Given the description of an element on the screen output the (x, y) to click on. 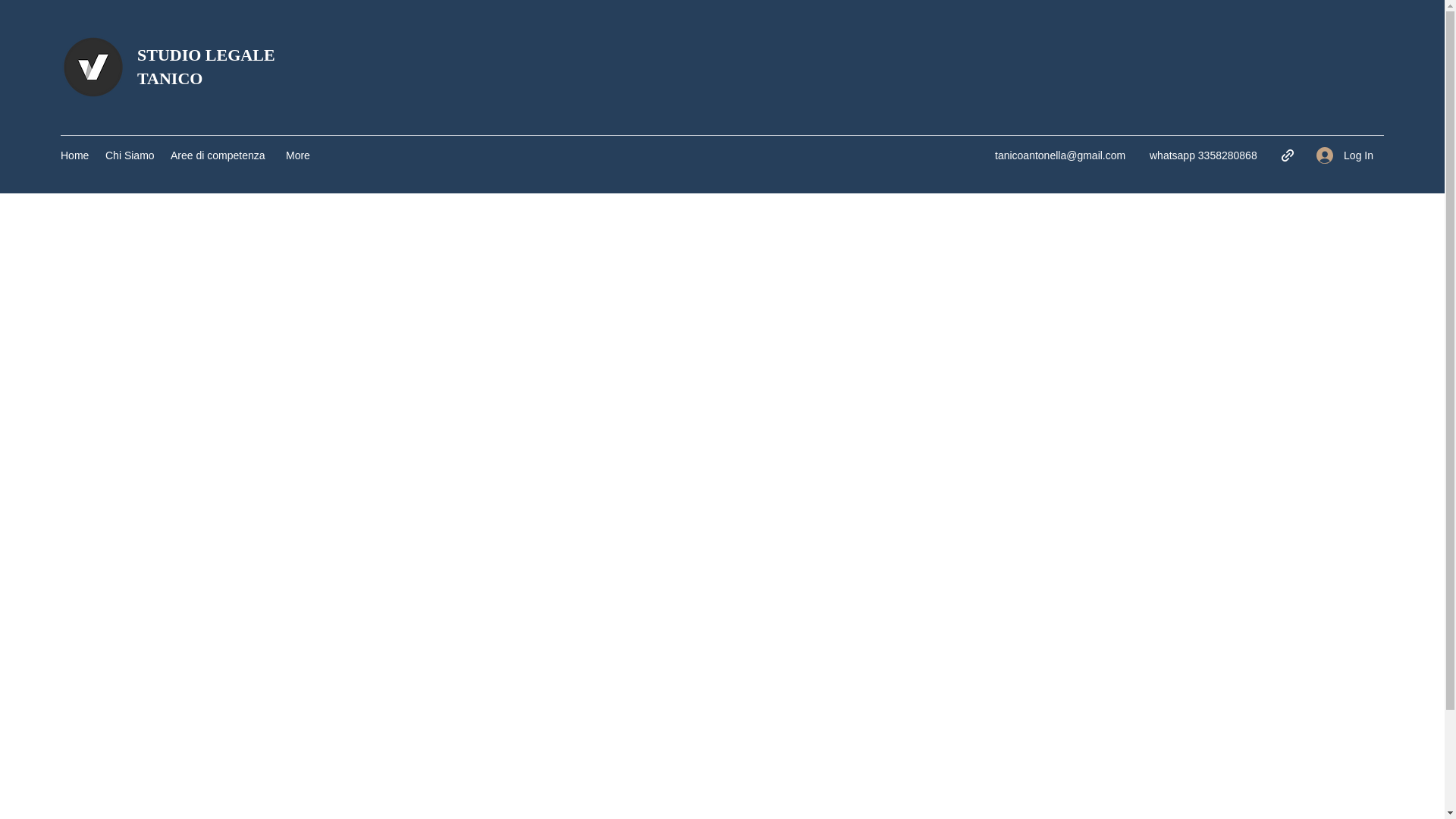
STUDIO LEGALE TANICO (205, 66)
Home (74, 155)
Chi Siamo (130, 155)
Log In (1345, 155)
Aree di competenza (220, 155)
